Given the description of an element on the screen output the (x, y) to click on. 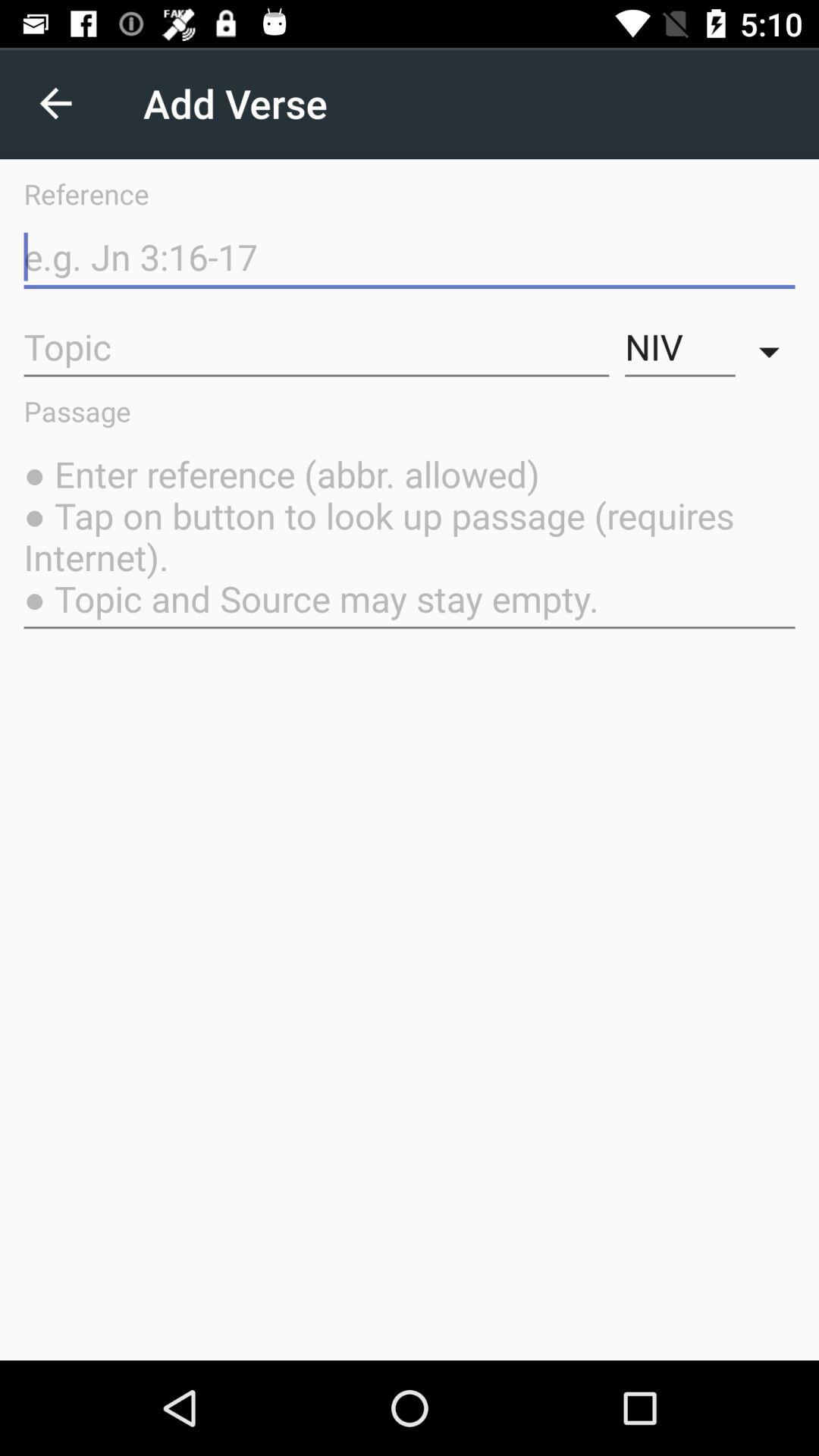
expand options (773, 347)
